Given the description of an element on the screen output the (x, y) to click on. 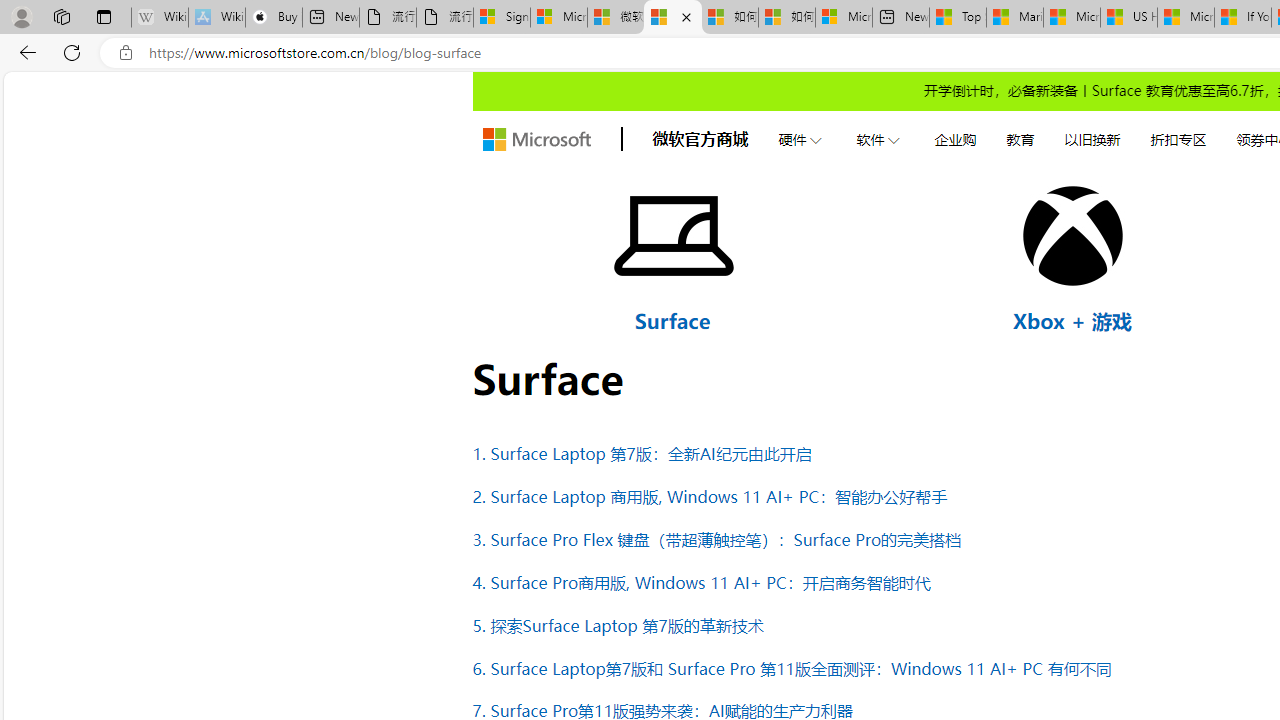
Surface (671, 320)
